Given the description of an element on the screen output the (x, y) to click on. 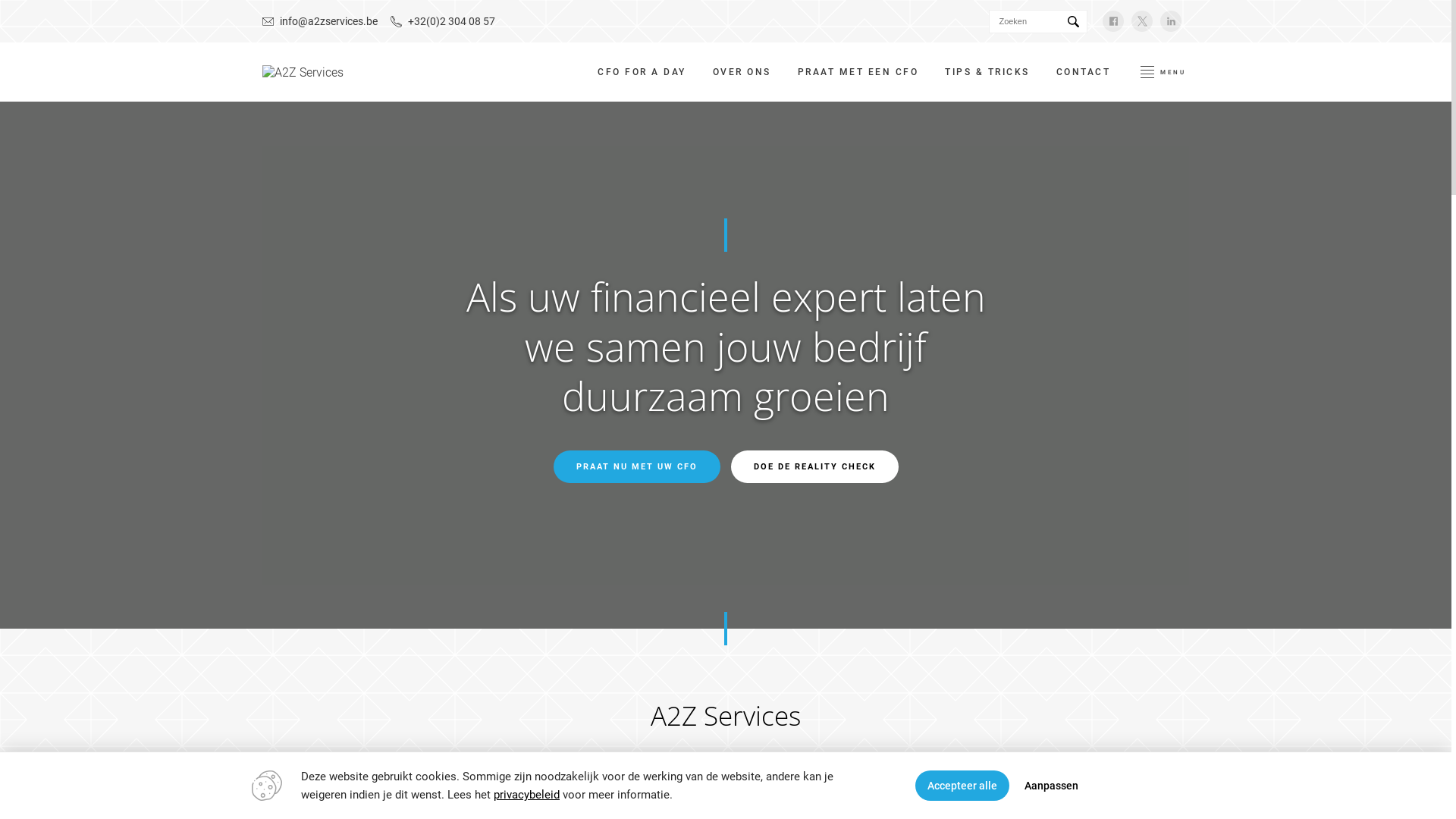
A2Z Services Facebook Element type: hover (1112, 20)
PRAAT MET EEN CFO Element type: text (858, 71)
+32(0)2 304 08 57 Element type: text (442, 21)
DOE DE REALITY CHECK Element type: text (814, 466)
MENU Element type: text (1162, 71)
Accepteer alle Element type: text (962, 785)
TIPS & TRICKS Element type: text (986, 71)
A2Z Services Linkedin Element type: hover (1170, 20)
info@a2zservices.be Element type: text (319, 21)
PRAAT NU MET UW CFO Element type: text (636, 466)
A2Z Services X Element type: hover (1141, 20)
Aanpassen Element type: text (1051, 785)
OVER ONS Element type: text (741, 71)
CONTACT Element type: text (1083, 71)
A2Z Services Element type: hover (302, 72)
privacybeleid Element type: text (526, 794)
CFO FOR A DAY Element type: text (641, 71)
